Given the description of an element on the screen output the (x, y) to click on. 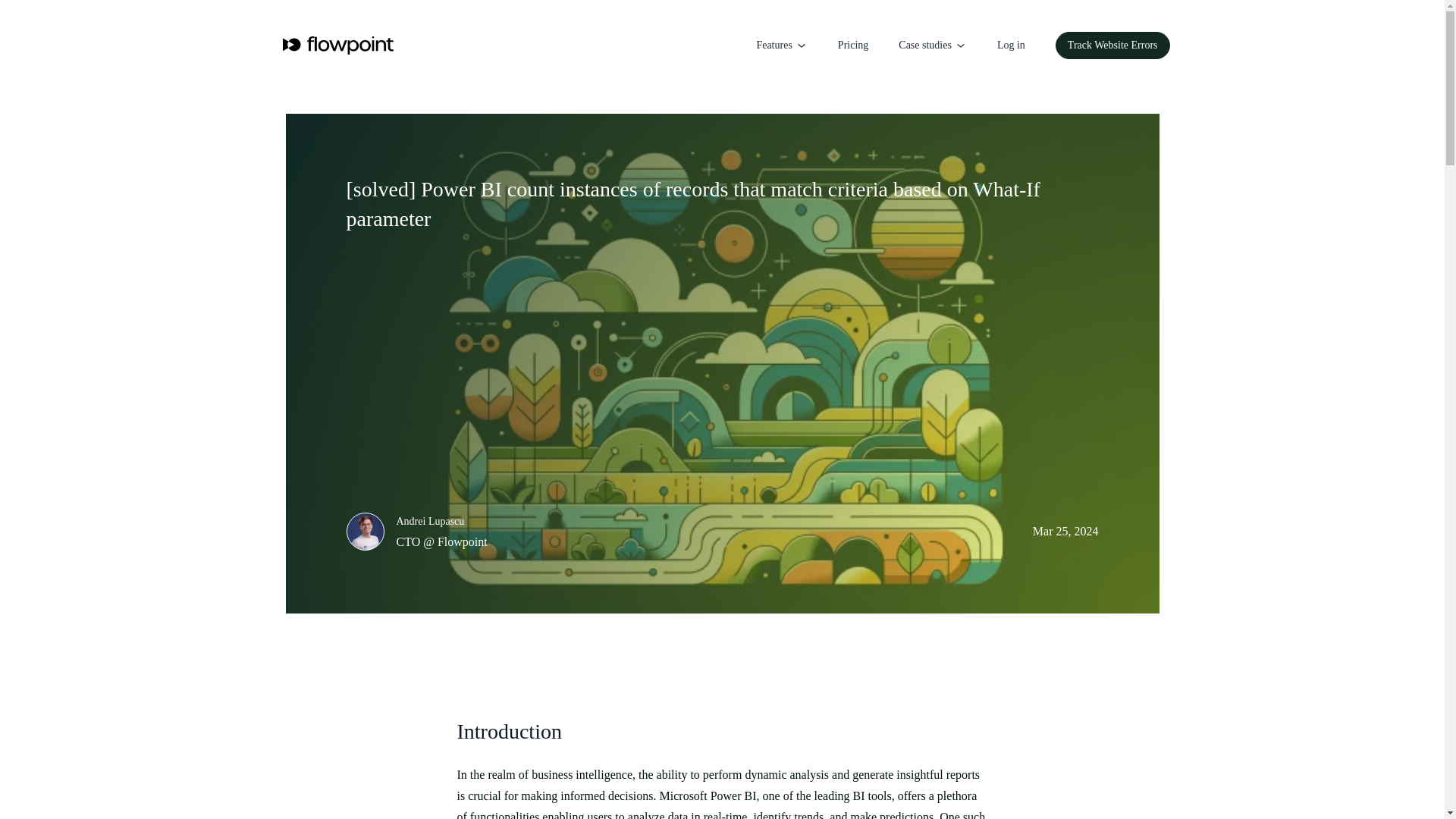
Log in (1011, 45)
Pricing (852, 45)
Track Website Errors (1112, 44)
